Given the description of an element on the screen output the (x, y) to click on. 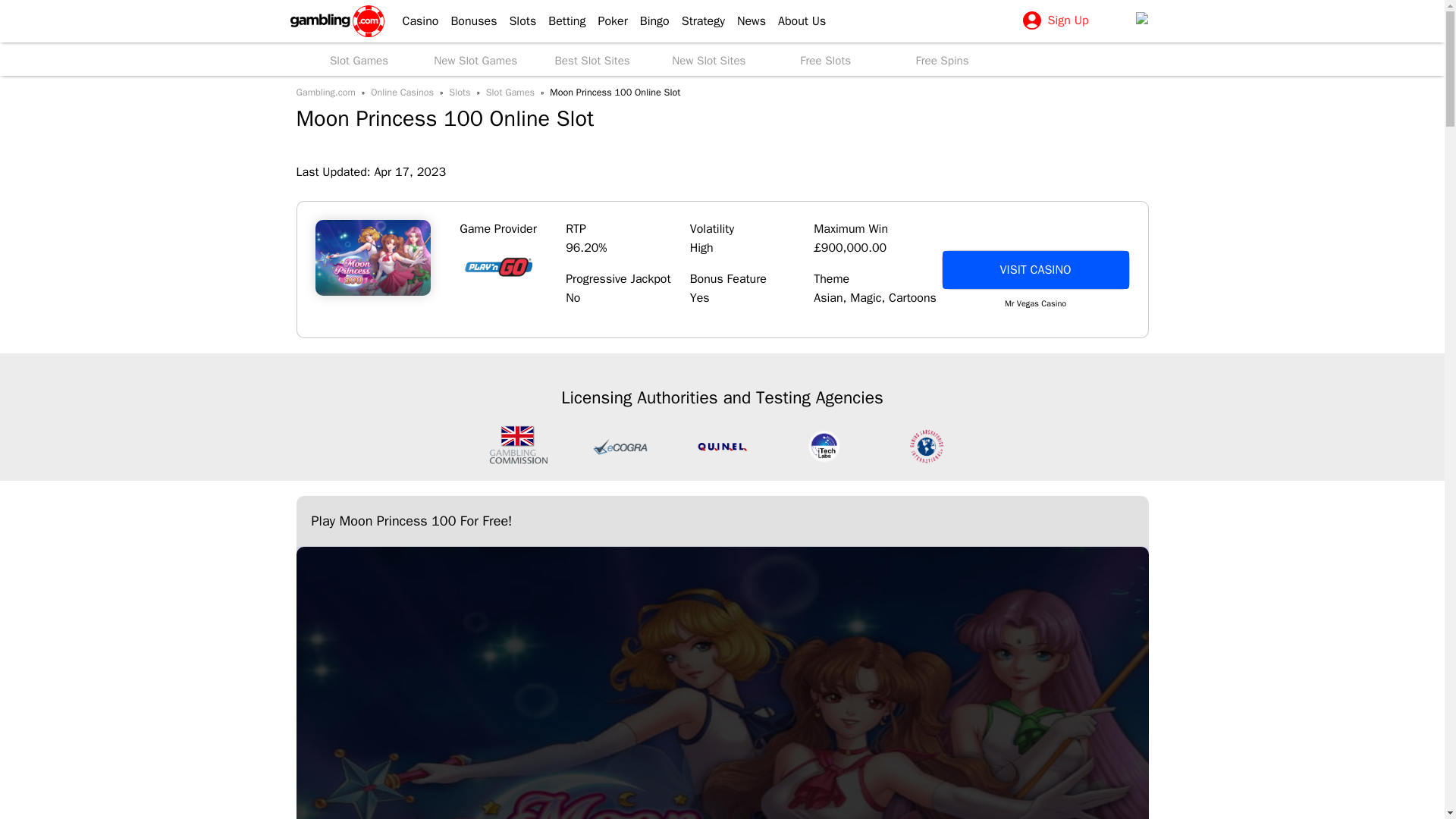
Bonuses (467, 21)
Casino (414, 21)
